Given the description of an element on the screen output the (x, y) to click on. 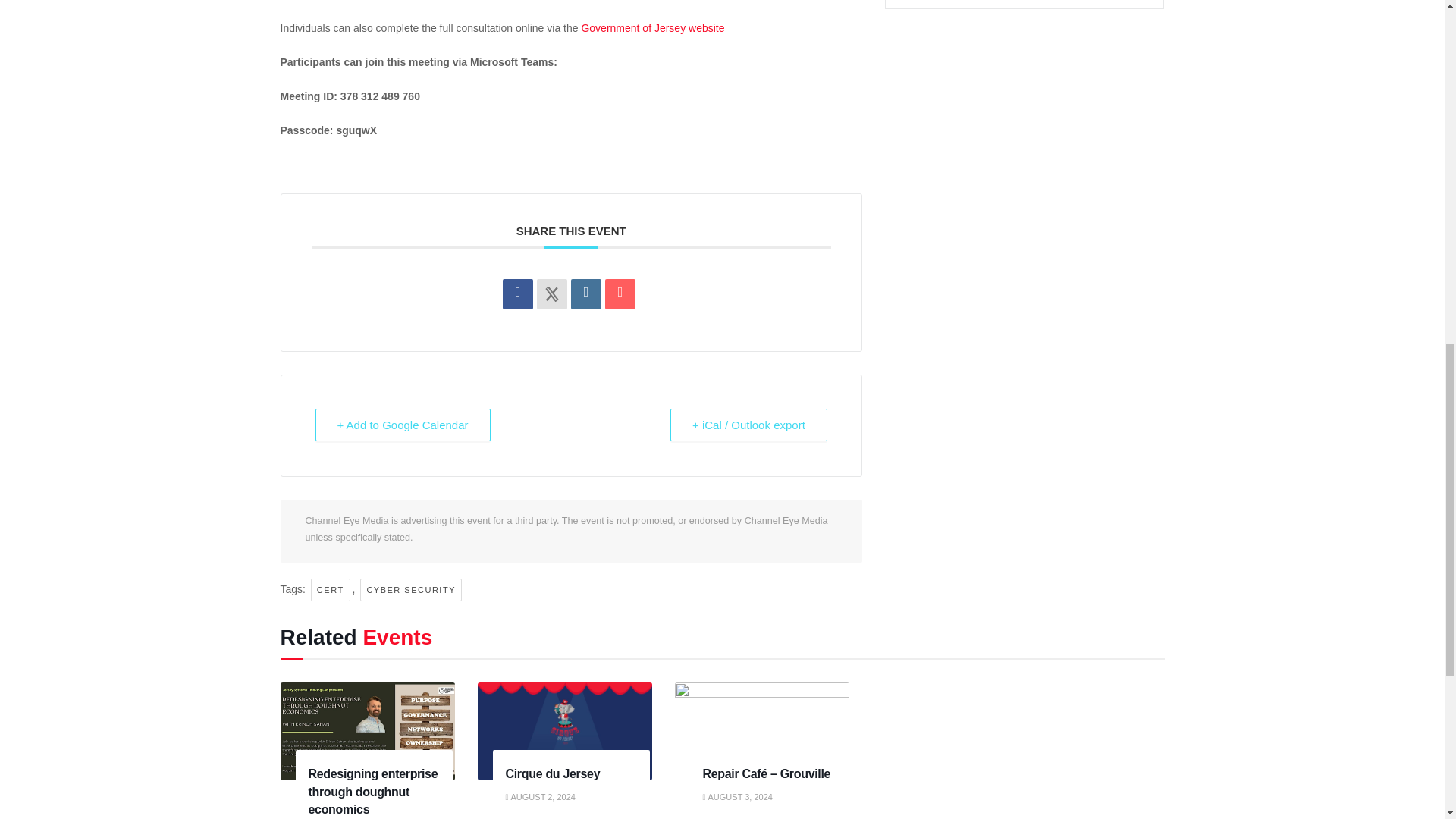
Linkedin (585, 294)
X Social Network (552, 294)
Email (619, 294)
Share on Facebook (517, 294)
